Given the description of an element on the screen output the (x, y) to click on. 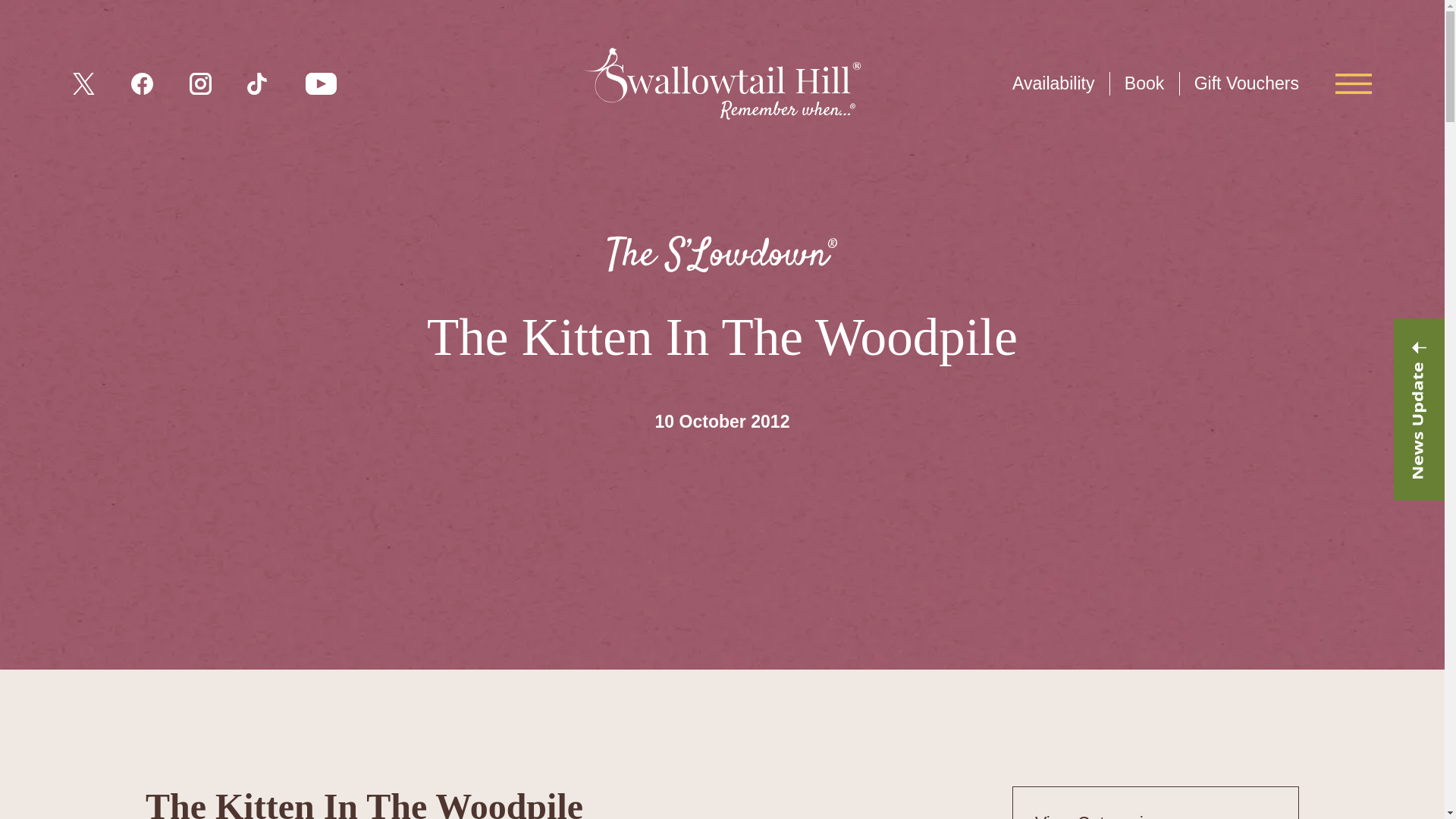
Book (1144, 83)
Gift Vouchers (1245, 83)
Availability (1052, 83)
